Given the description of an element on the screen output the (x, y) to click on. 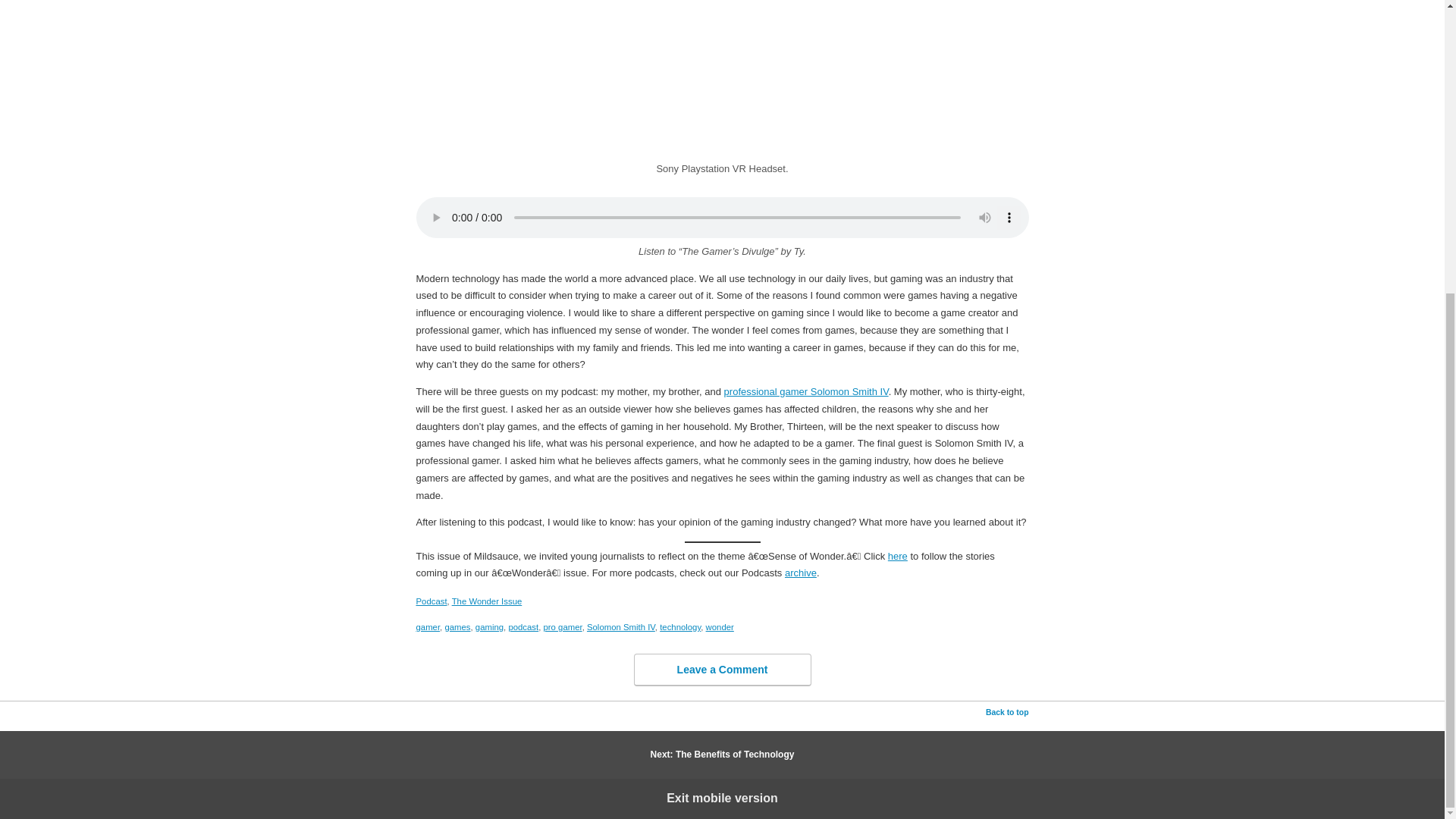
Solomon Smith IV (620, 626)
gamer (426, 626)
Podcast (430, 601)
Back to top (1007, 713)
Leave a Comment (721, 669)
games (457, 626)
professional gamer Solomon Smith IV (805, 391)
wonder (719, 626)
here (897, 555)
gaming (489, 626)
